Given the description of an element on the screen output the (x, y) to click on. 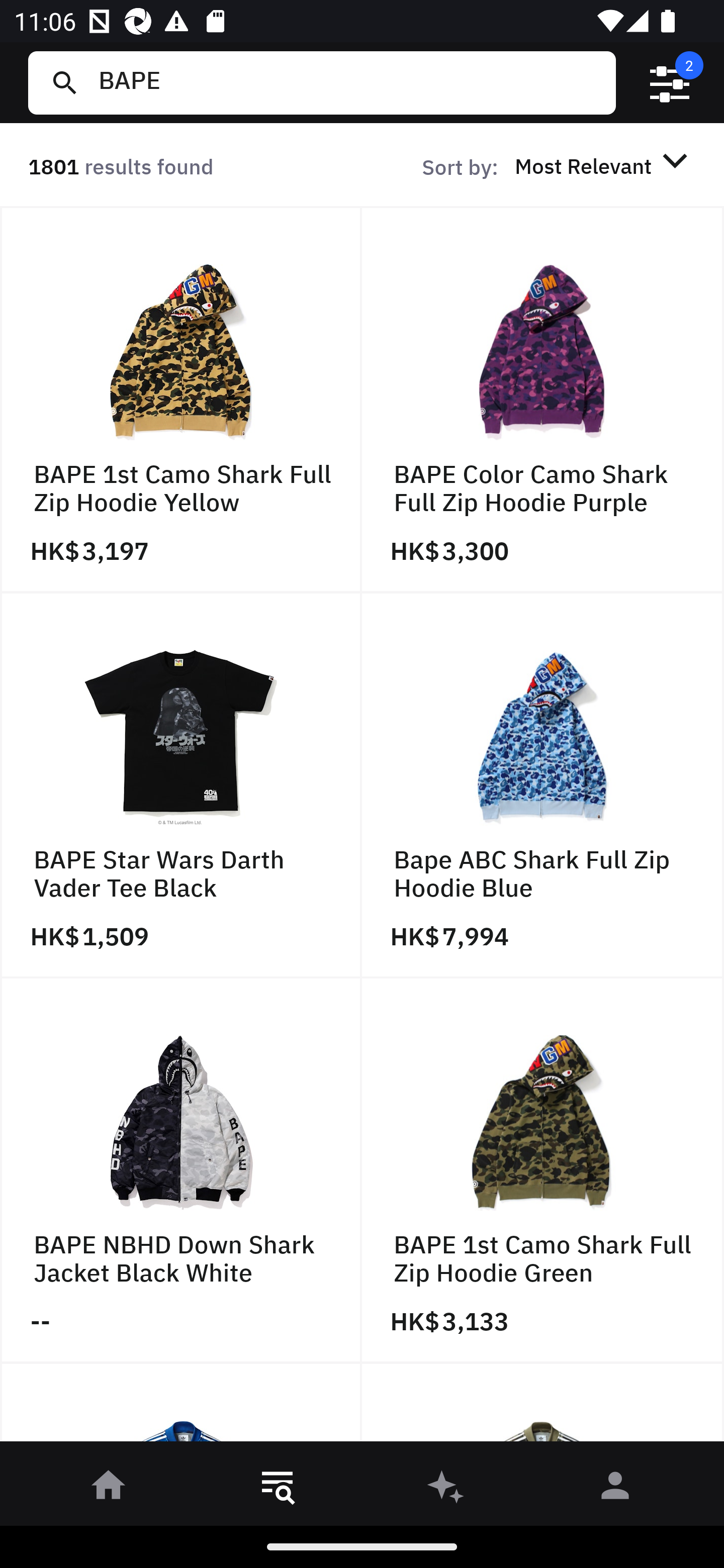
BAPE (349, 82)
 (669, 82)
Most Relevant  (604, 165)
BAPE Star Wars Darth Vader Tee Black HK$ 1,509 (181, 785)
Bape ABC Shark Full Zip Hoodie Blue HK$ 7,994 (543, 785)
BAPE NBHD Down Shark Jacket Black White -- (181, 1171)
󰋜 (108, 1488)
󱎸 (277, 1488)
󰫢 (446, 1488)
󰀄 (615, 1488)
